Given the description of an element on the screen output the (x, y) to click on. 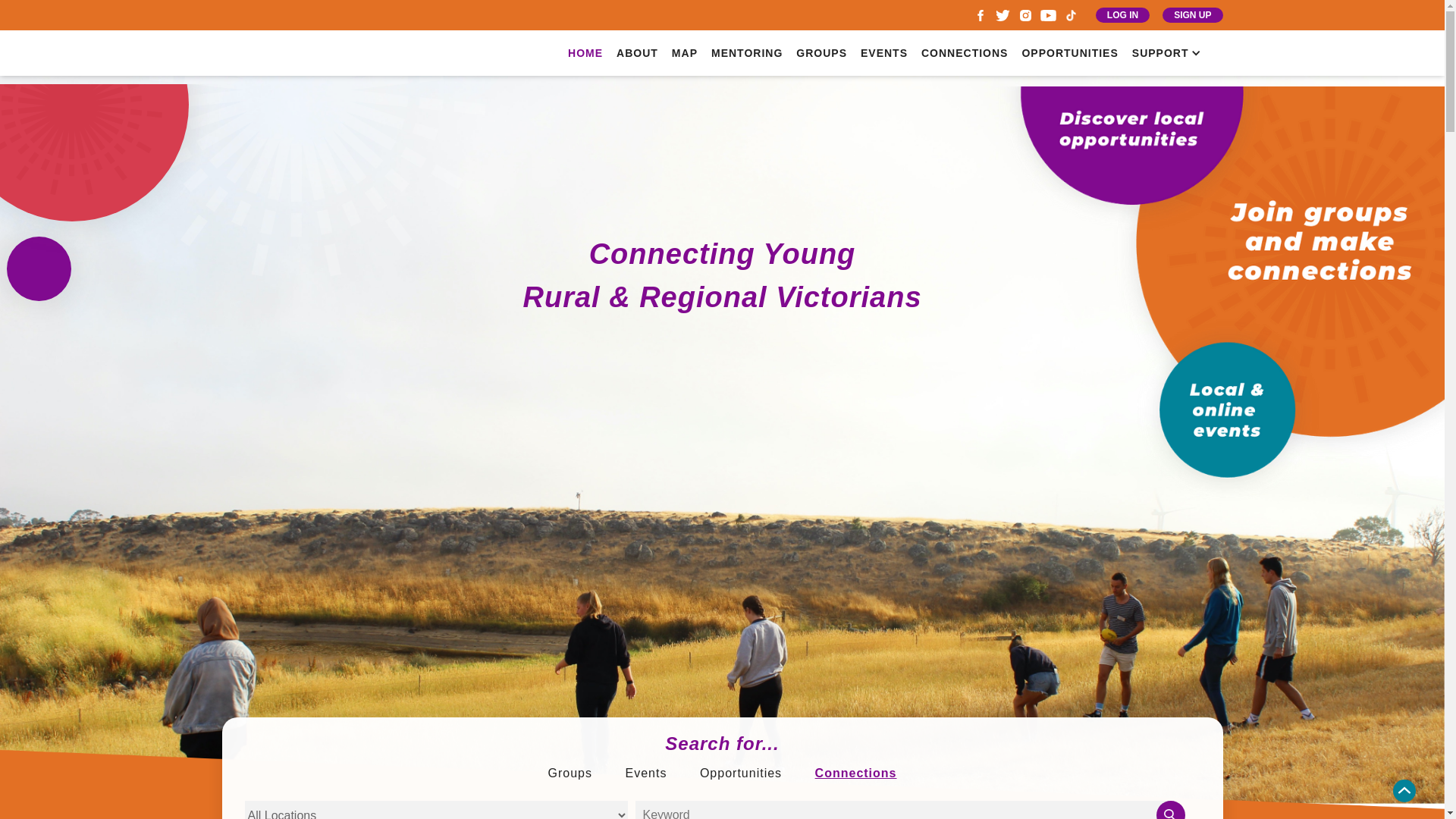
LOG IN Element type: text (1122, 14)
EVENTS Element type: text (883, 52)
Groups Element type: text (569, 773)
Connections Element type: text (856, 773)
MAP Element type: text (684, 52)
GROUPS Element type: text (821, 52)
Opportunities Element type: text (740, 773)
SIGN UP Element type: text (1192, 14)
Events Element type: text (645, 773)
ABOUT Element type: text (637, 52)
HOME Element type: text (585, 52)
MENTORING Element type: text (746, 52)
OPPORTUNITIES Element type: text (1069, 52)
CONNECTIONS Element type: text (964, 52)
